Given the description of an element on the screen output the (x, y) to click on. 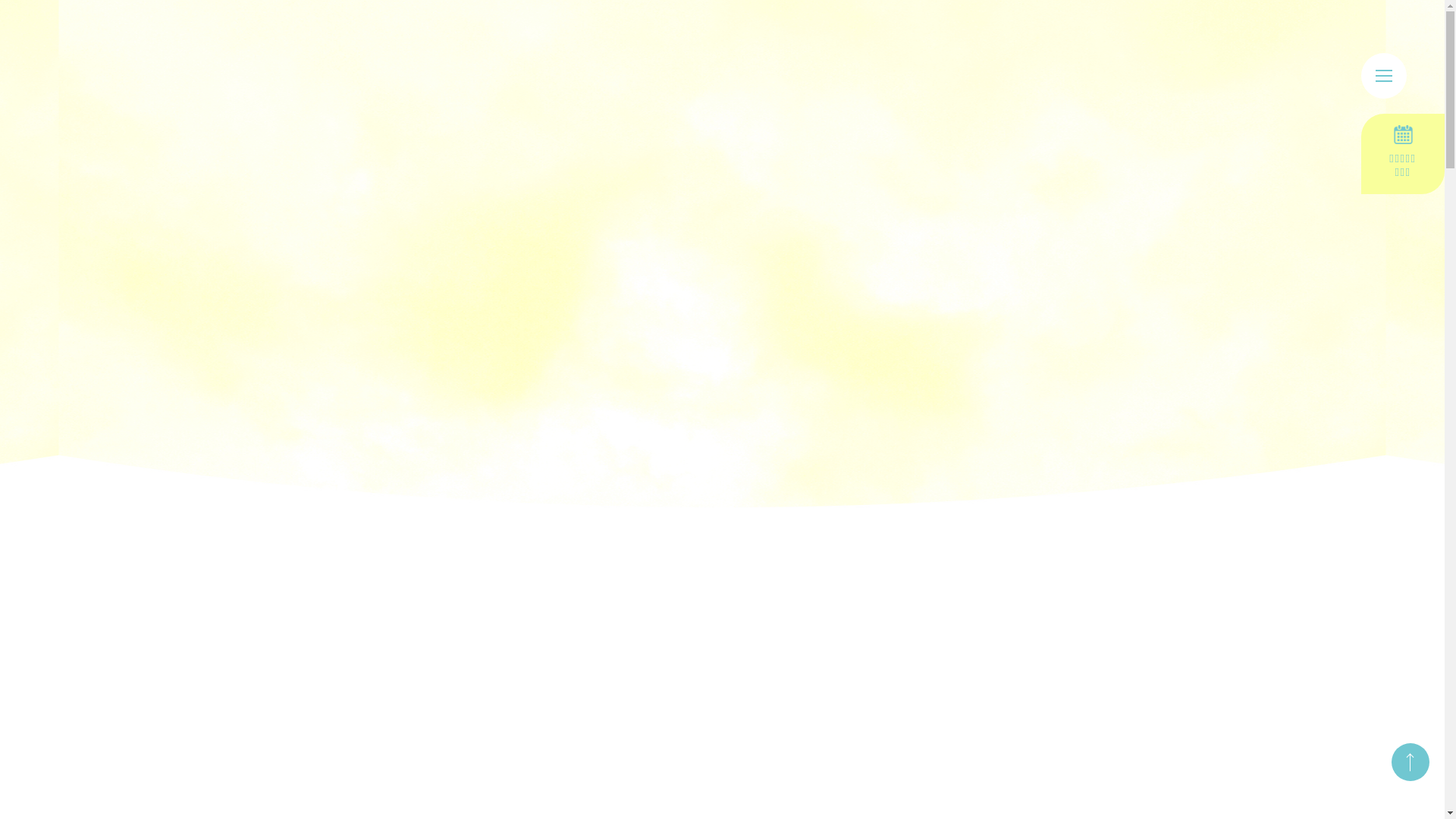
menu Element type: text (1383, 75)
